Given the description of an element on the screen output the (x, y) to click on. 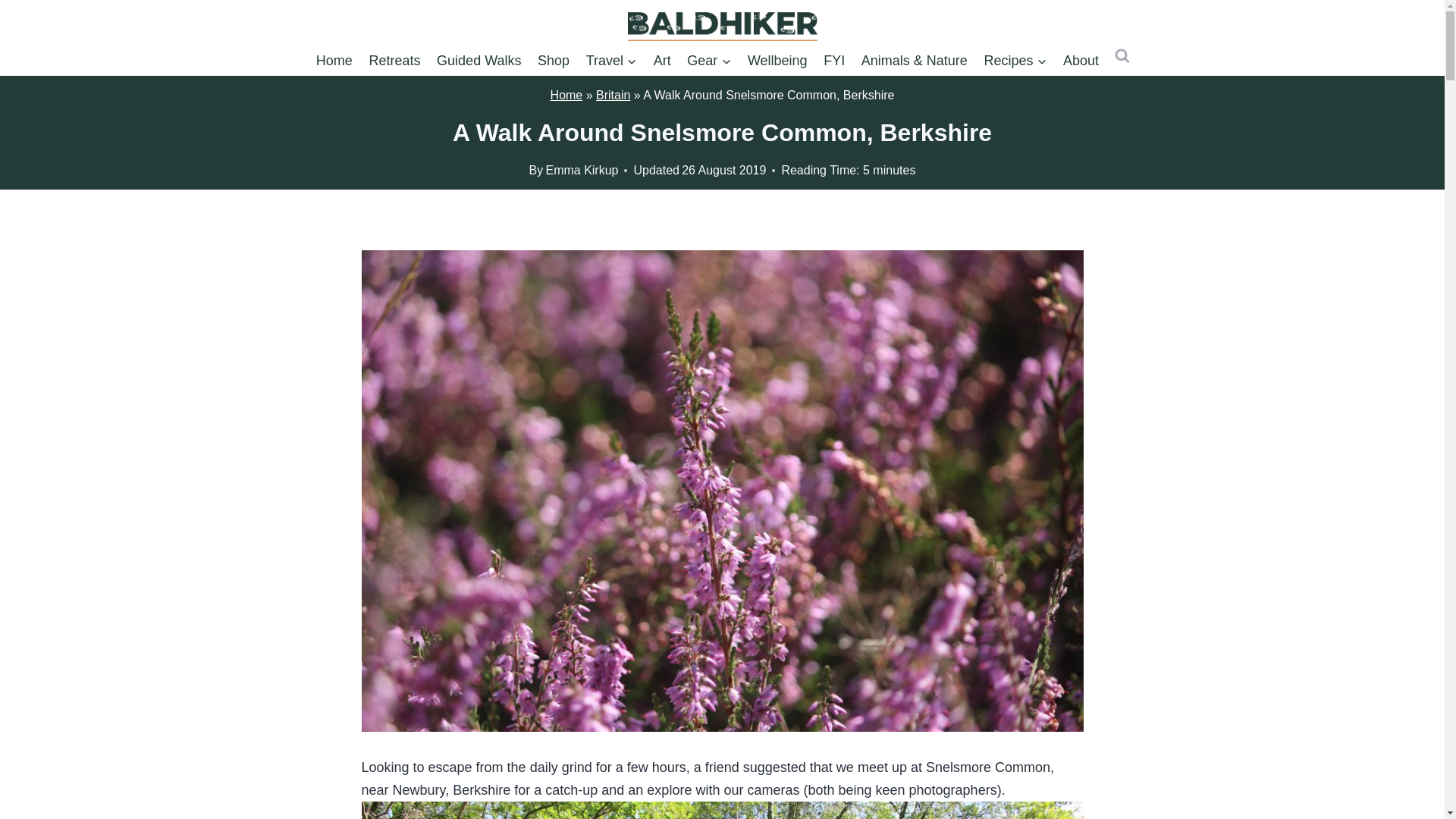
Art (662, 60)
Guided Walks (478, 60)
Home (334, 60)
Home (566, 94)
Gear (708, 60)
Retreats (395, 60)
Emma Kirkup (580, 169)
FYI (834, 60)
Britain (612, 94)
Recipes (1015, 60)
